Given the description of an element on the screen output the (x, y) to click on. 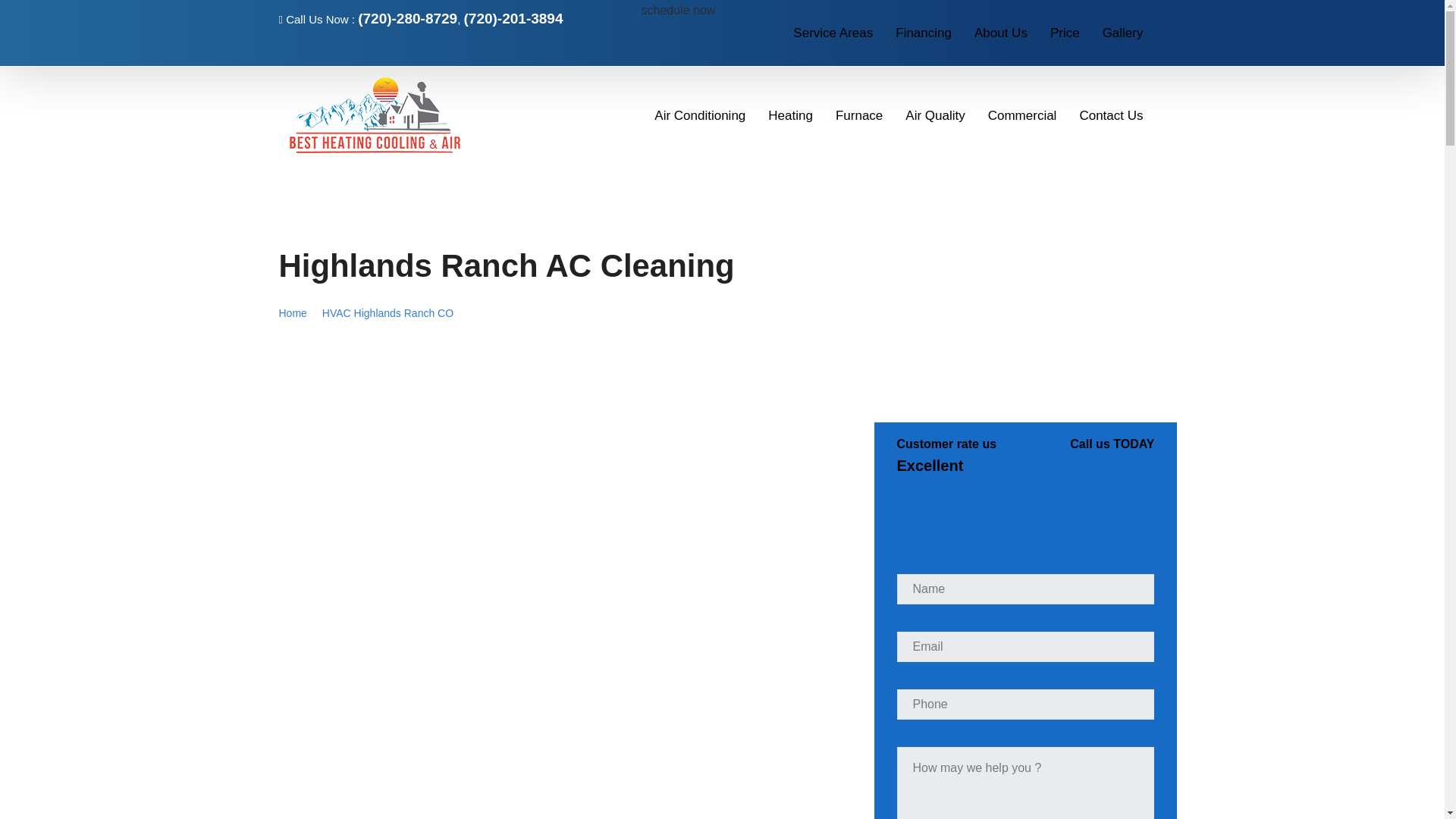
schedule now (679, 10)
Price (1064, 32)
Gallery (1122, 32)
Financing (923, 32)
About us (1000, 32)
Service Areas (832, 32)
Gallery (1122, 32)
Air Conditioning (699, 114)
Furnace (858, 114)
Air Conditioning (699, 114)
